Given the description of an element on the screen output the (x, y) to click on. 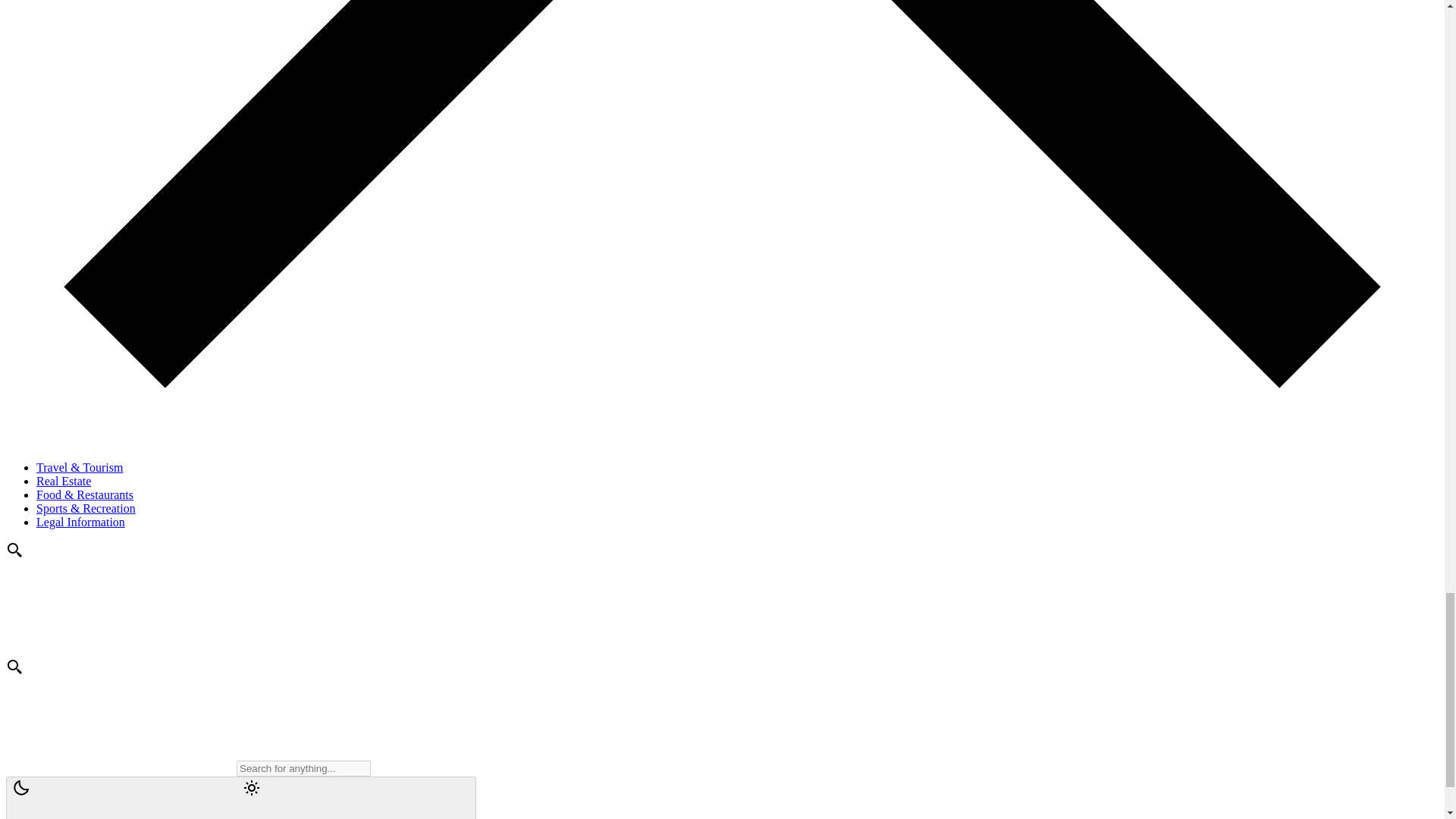
Real Estate (63, 481)
Legal Information (80, 521)
